Given the description of an element on the screen output the (x, y) to click on. 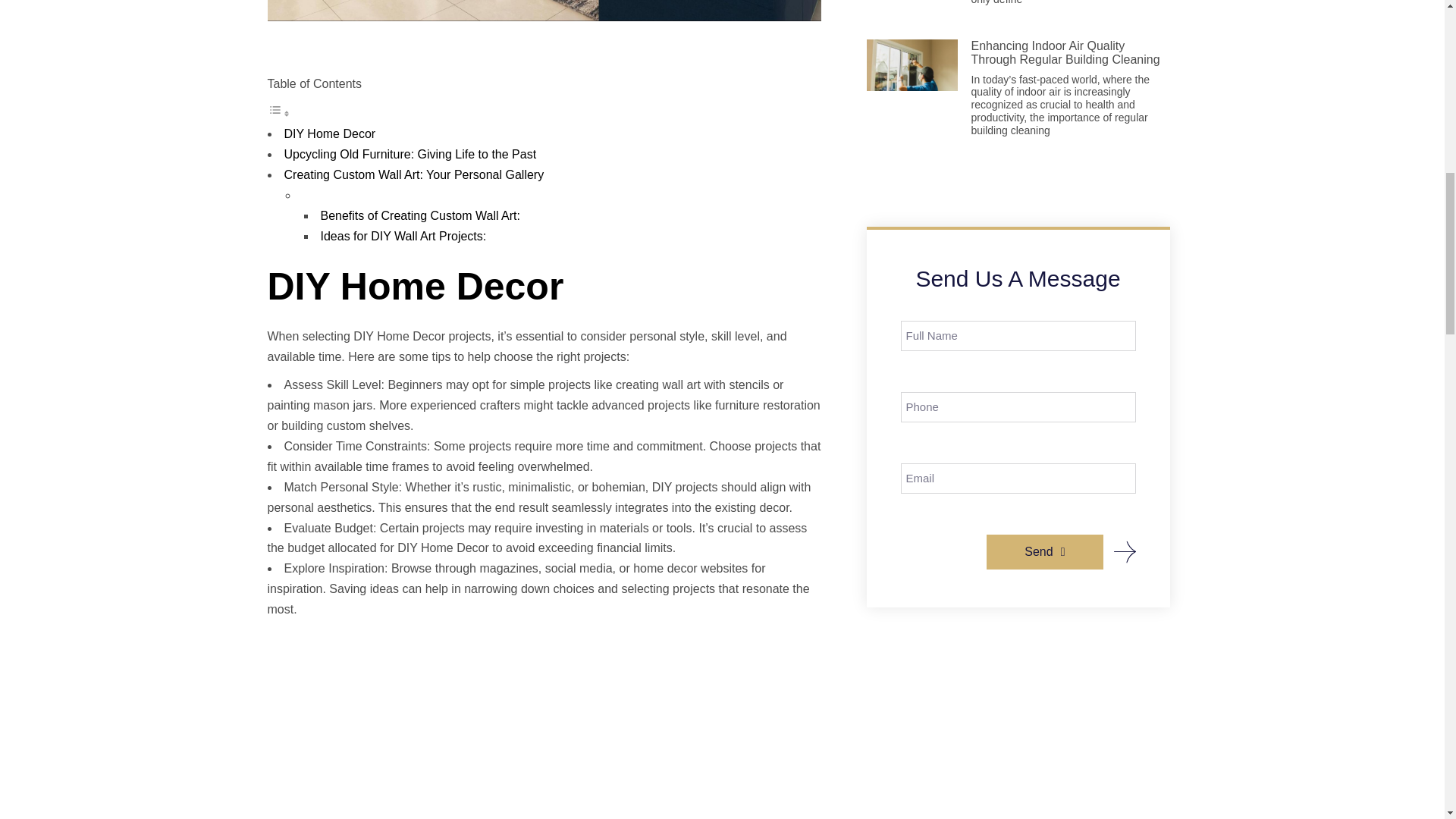
Creating Custom Wall Art: Your Personal Gallery (413, 174)
DIY Home Decor (329, 133)
Benefits of Creating Custom Wall Art: (419, 215)
Send (1044, 551)
Creating Custom Wall Art: Your Personal Gallery (413, 174)
Ideas for DIY Wall Art Projects: (403, 236)
Upcycling Old Furniture: Giving Life to the Past (409, 154)
DIY Home Decor (329, 133)
Benefits of Creating Custom Wall Art: (419, 215)
Upcycling Old Furniture: Giving Life to the Past (409, 154)
Ideas for DIY Wall Art Projects: (403, 236)
